Given the description of an element on the screen output the (x, y) to click on. 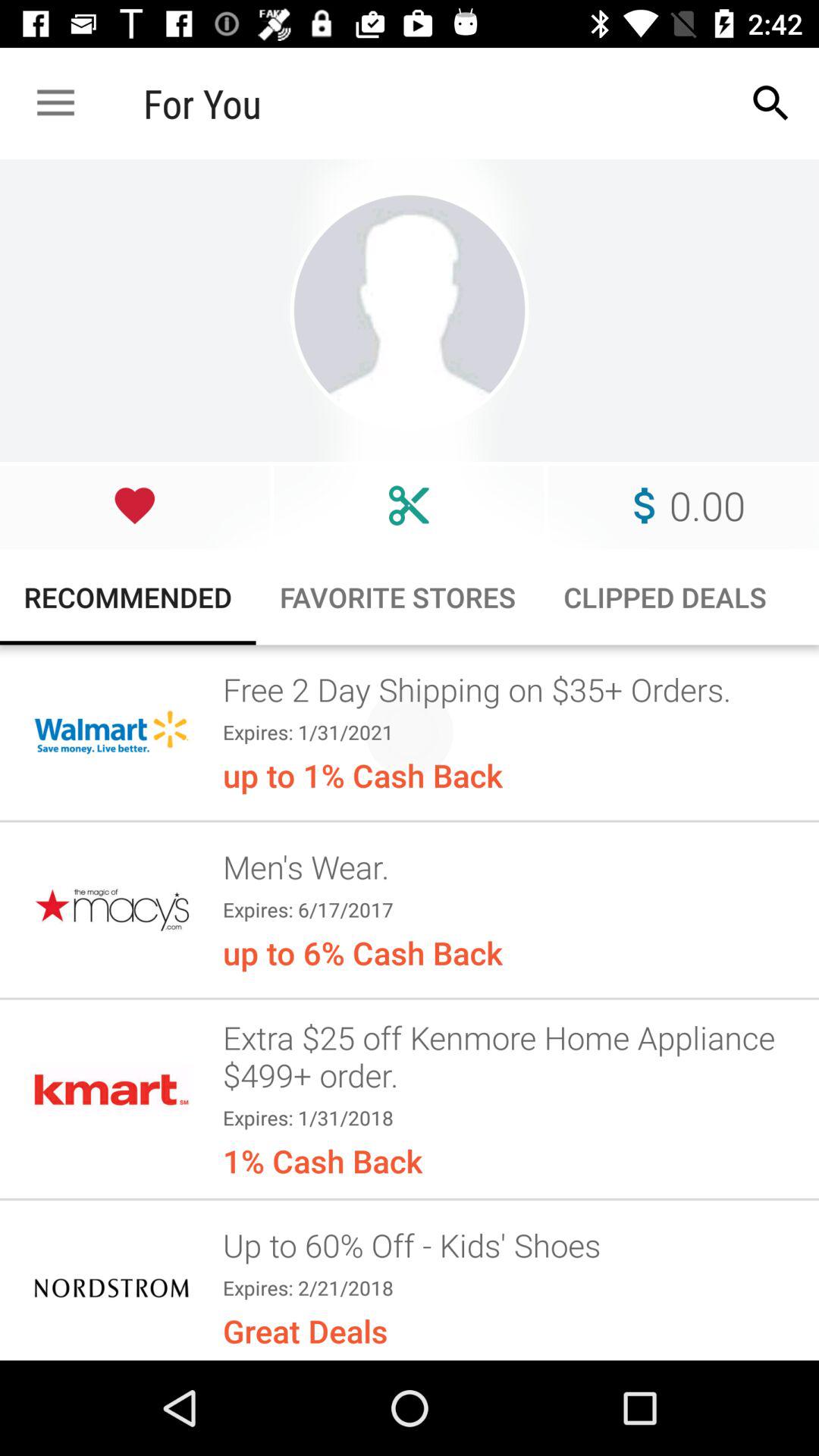
launch the item at the top right corner (771, 103)
